Given the description of an element on the screen output the (x, y) to click on. 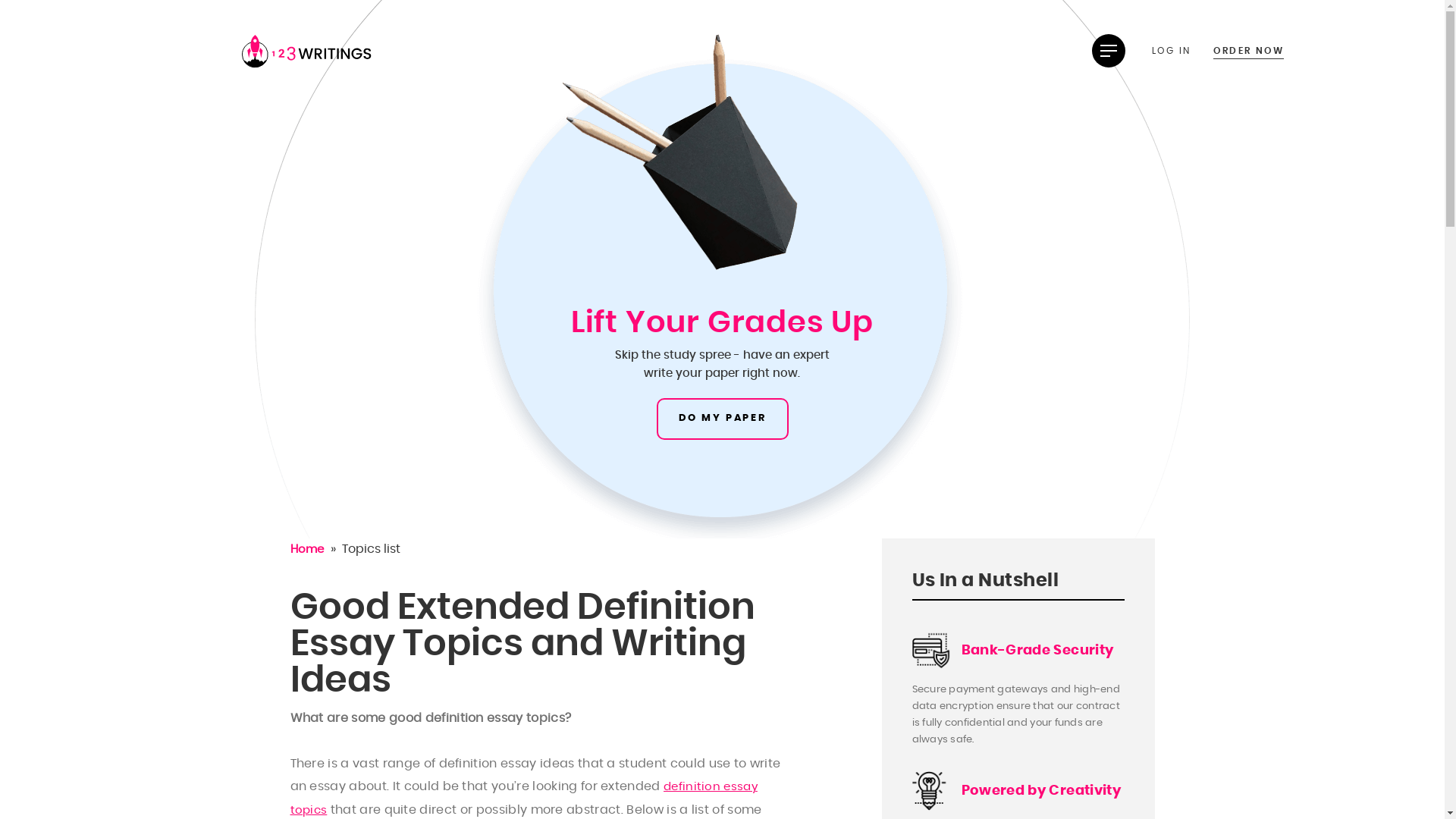
Home Element type: text (306, 549)
definition essay topics Element type: text (522, 798)
LOG IN Element type: text (1174, 50)
ORDER NOW Element type: text (1248, 50)
DO MY PAPER Element type: text (722, 418)
